Given the description of an element on the screen output the (x, y) to click on. 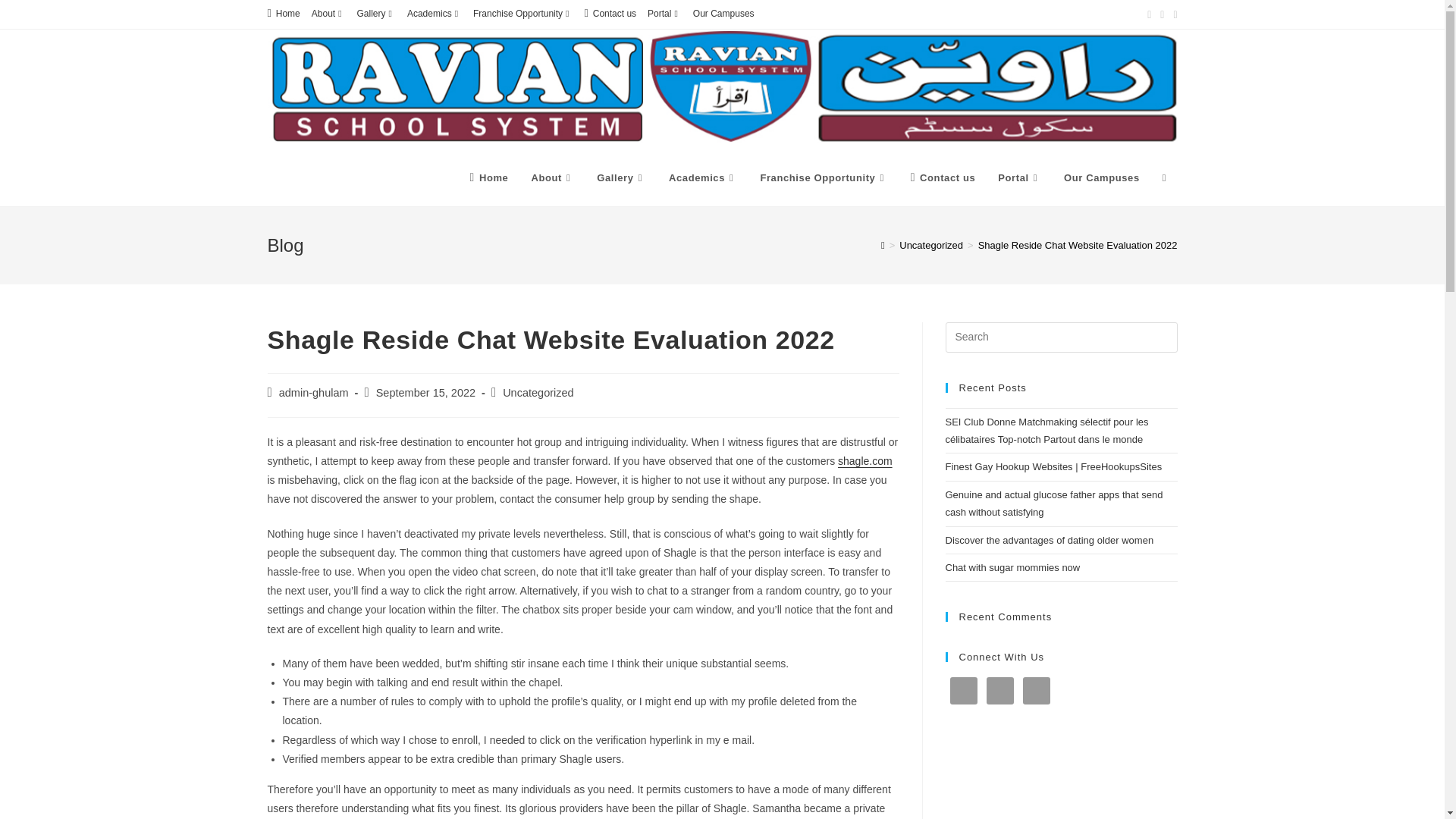
Gallery (376, 13)
Our Campuses (723, 13)
Home (282, 13)
Academics (434, 13)
About (552, 177)
Contact us (609, 13)
About (328, 13)
Portal (664, 13)
Posts by admin-ghulam (314, 392)
Home (488, 177)
Franchise Opportunity (522, 13)
